Given the description of an element on the screen output the (x, y) to click on. 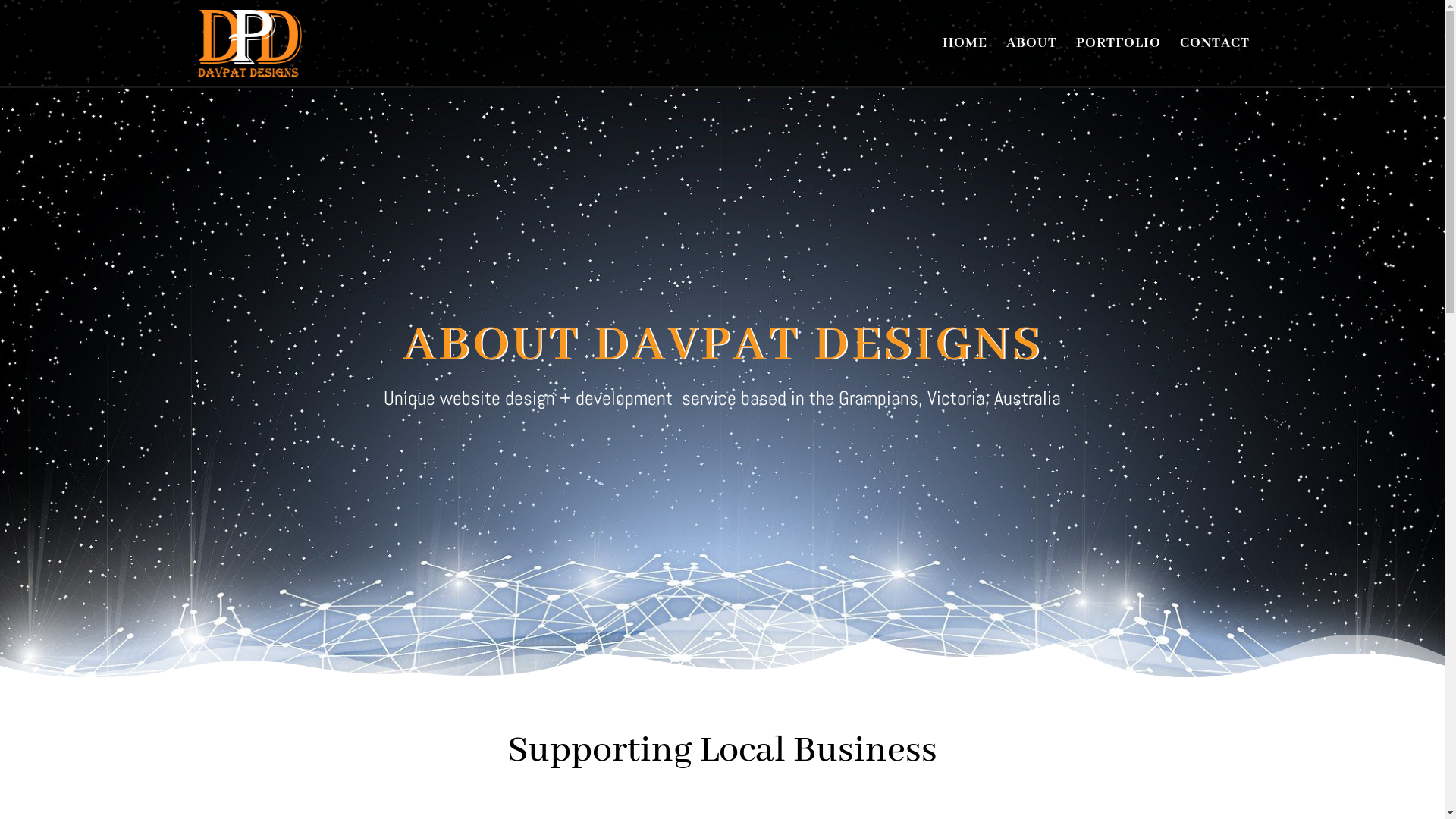
PORTFOLIO Element type: text (1117, 61)
CONTACT Element type: text (1214, 61)
HOME Element type: text (963, 61)
ABOUT Element type: text (1030, 61)
